Given the description of an element on the screen output the (x, y) to click on. 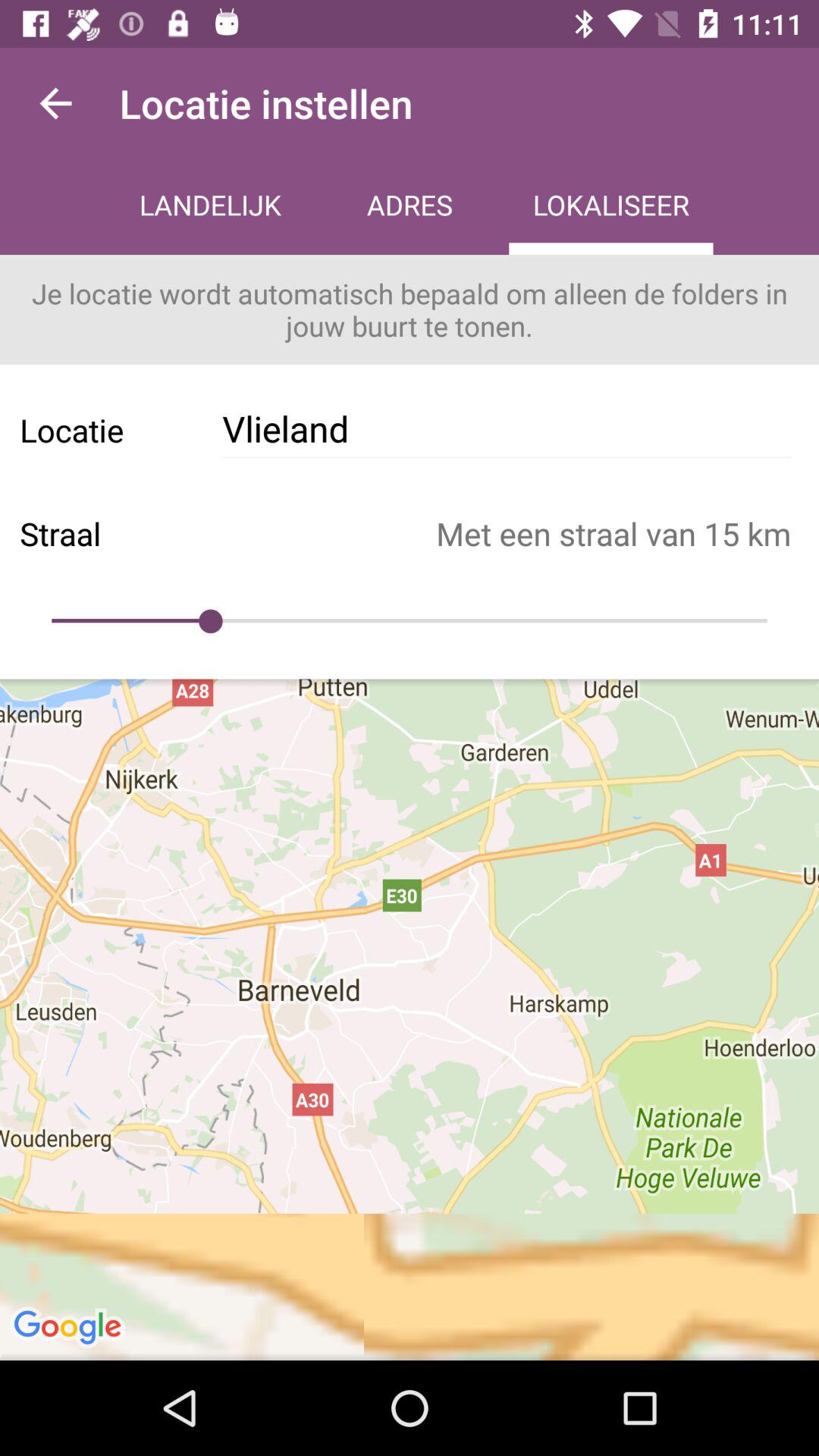
press app below the locatie instellen icon (409, 206)
